Given the description of an element on the screen output the (x, y) to click on. 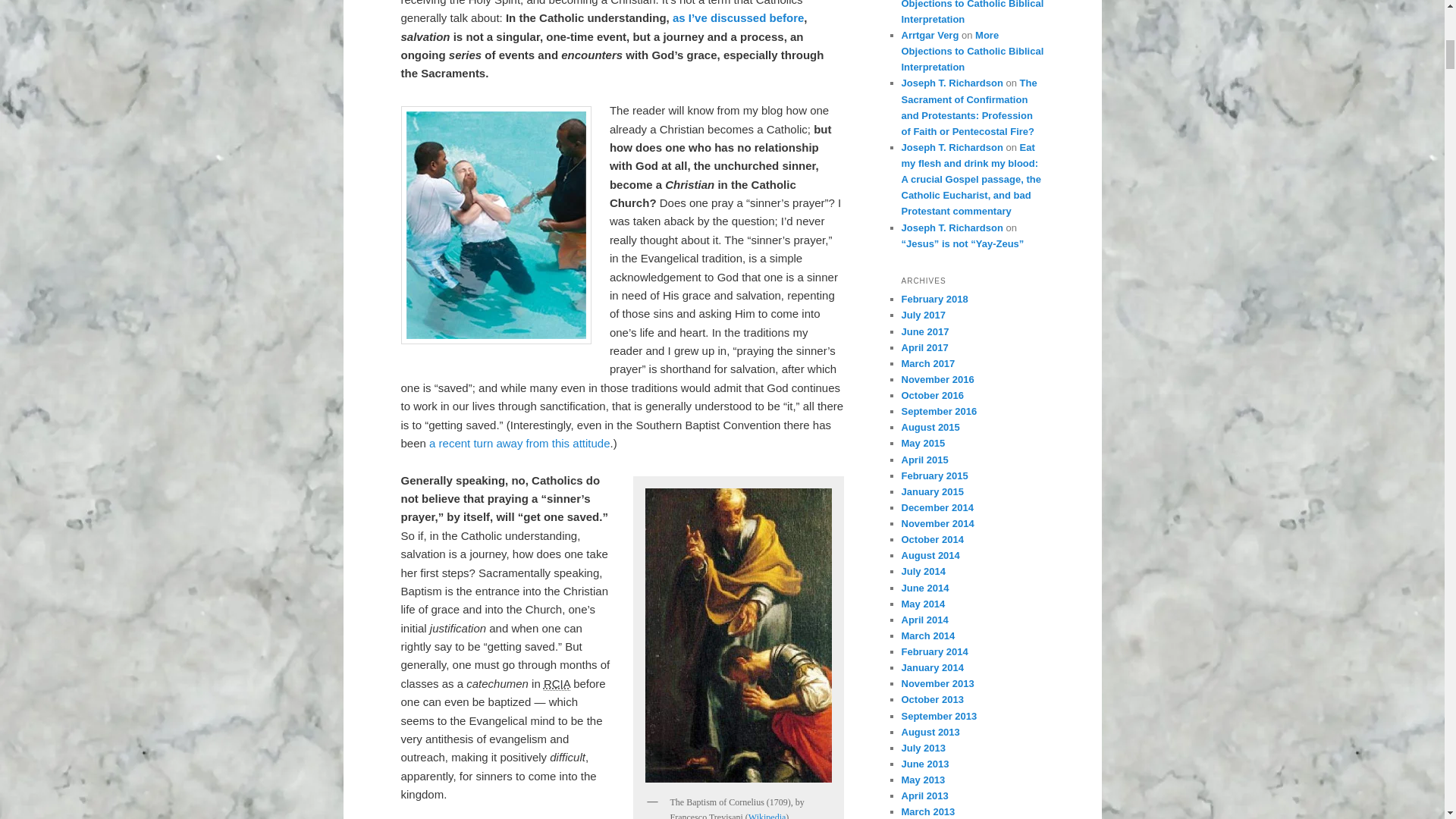
Rite of Christian Initiation for Adults (556, 684)
Wikipedia (767, 815)
a recent turn away from this attitude (519, 442)
